Given the description of an element on the screen output the (x, y) to click on. 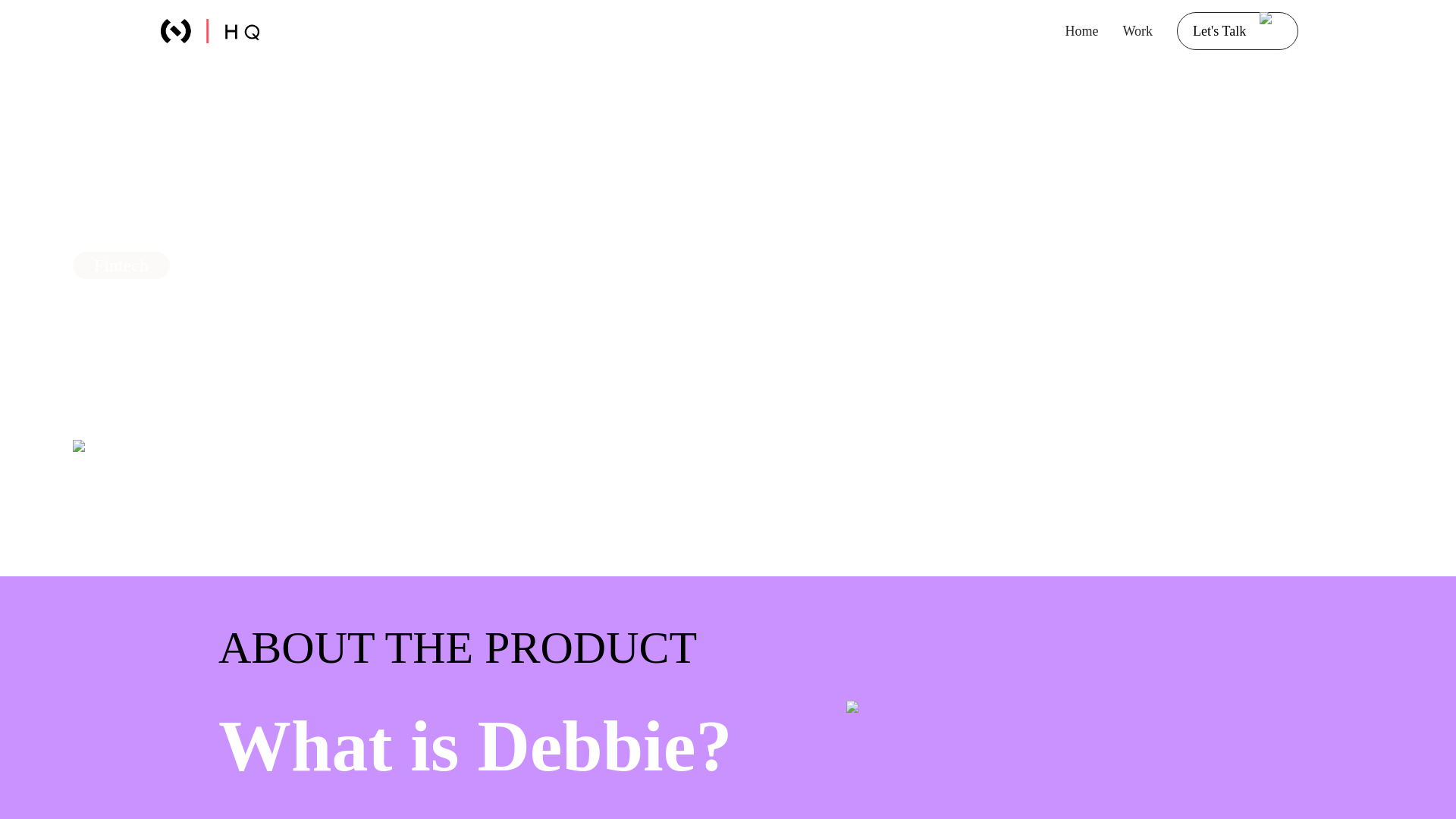
Let's Talk (1237, 30)
Home (1080, 31)
Fintech (121, 265)
Work (1137, 31)
